Given the description of an element on the screen output the (x, y) to click on. 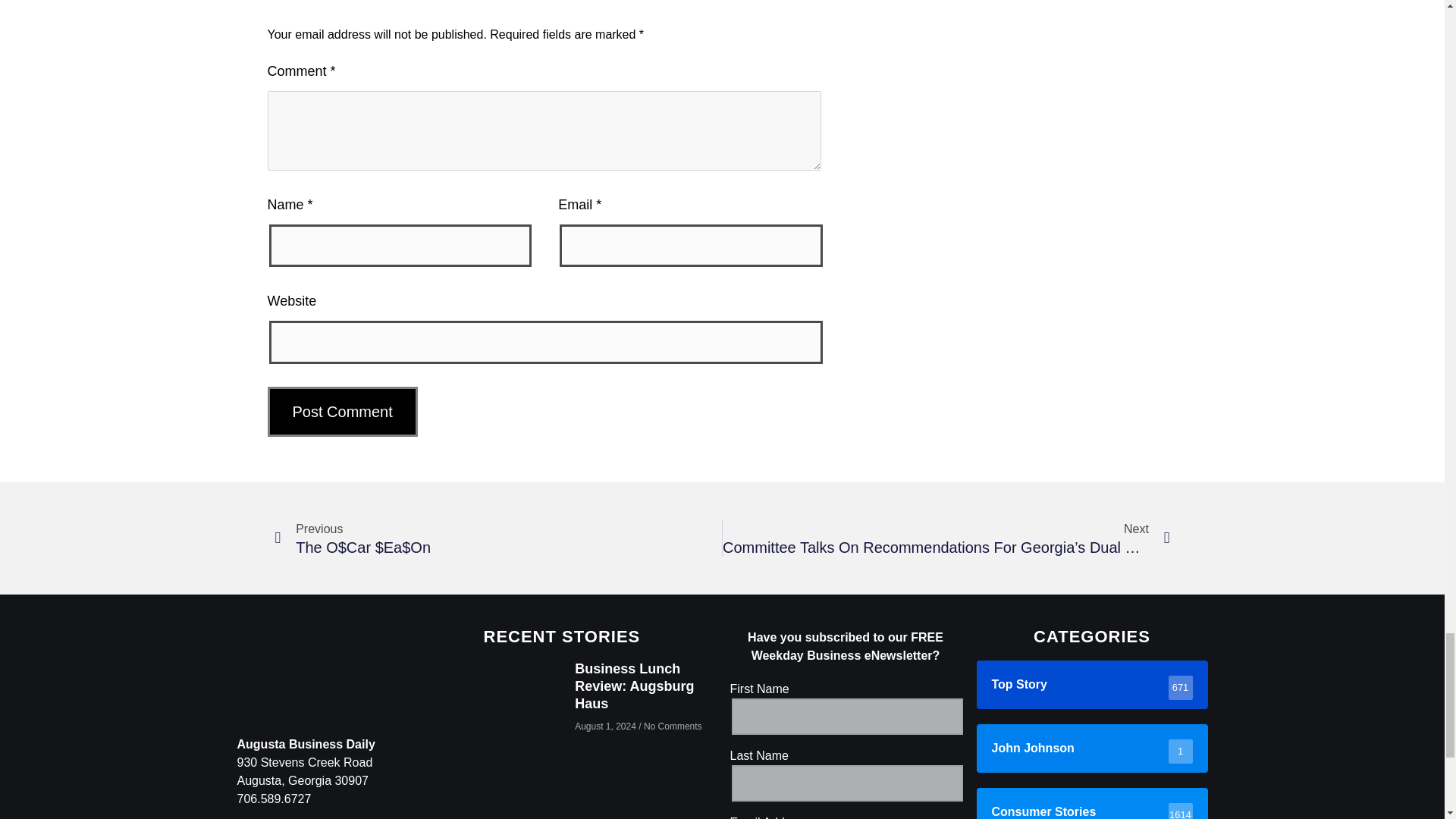
Post Comment (341, 411)
